Given the description of an element on the screen output the (x, y) to click on. 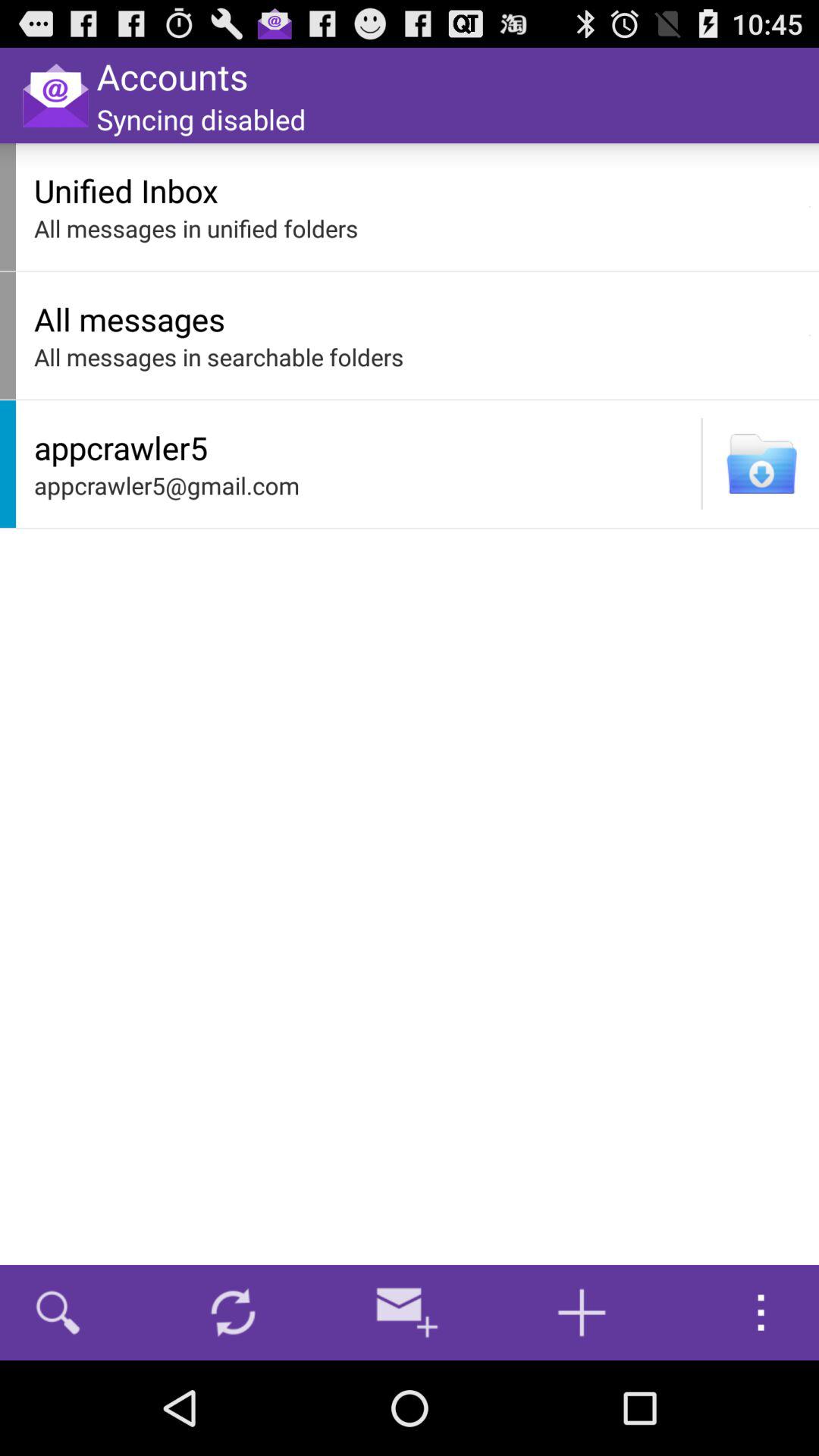
select the item below all messages in app (701, 463)
